Given the description of an element on the screen output the (x, y) to click on. 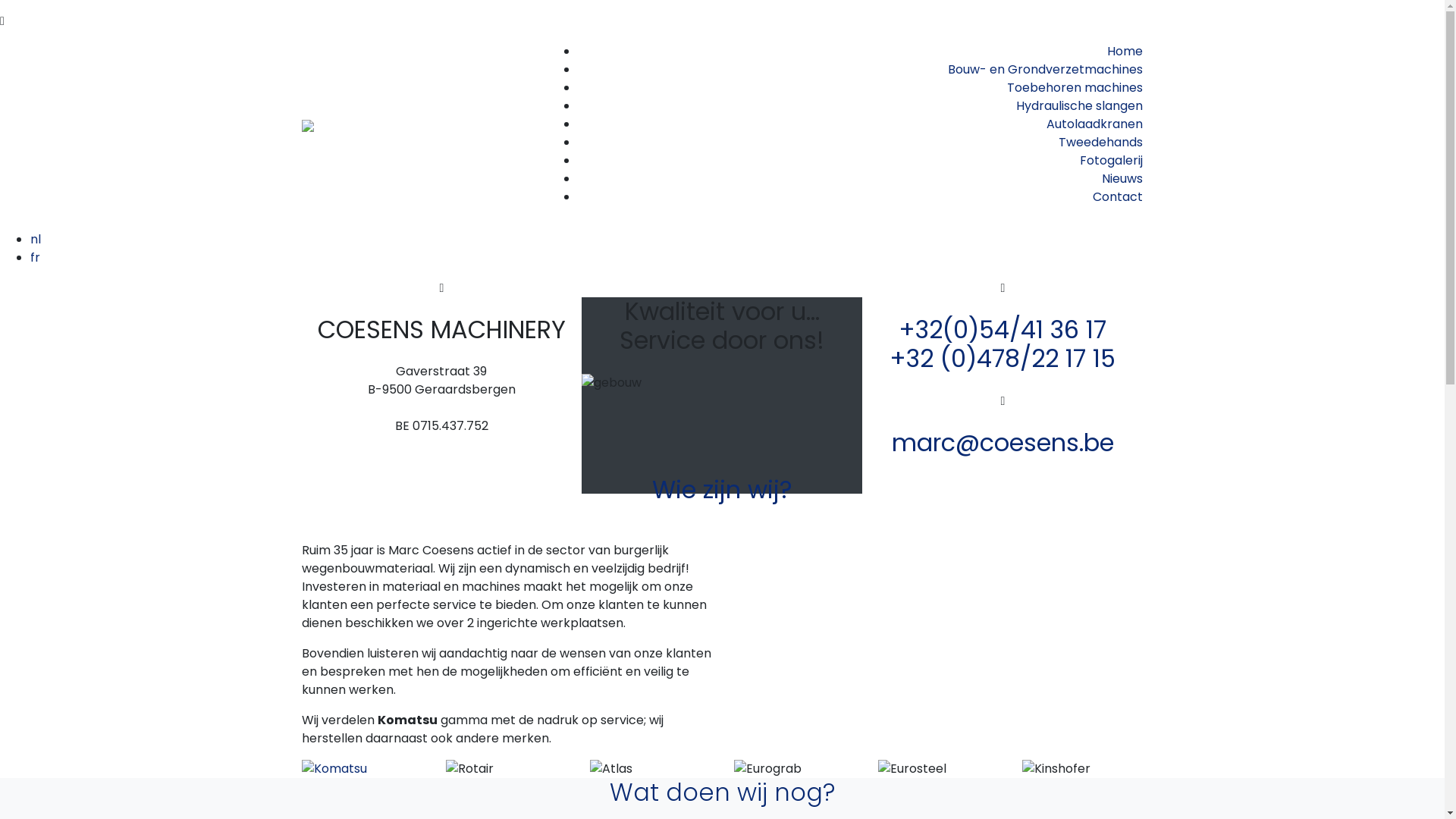
Tweedehands Element type: text (1100, 141)
Hydraulische slangen Element type: text (1079, 105)
Contact Element type: text (1117, 196)
nl Element type: text (35, 238)
Fotogalerij Element type: text (1110, 160)
marc@coesens.be Element type: text (1002, 442)
Nieuws Element type: text (1121, 178)
Bouw- en Grondverzetmachines Element type: text (1044, 69)
+32 (0)478/22 17 15 Element type: text (1002, 358)
Home Element type: text (1124, 50)
Toebehoren machines Element type: text (1074, 87)
Autolaadkranen Element type: text (1094, 123)
+32(0)54/41 36 17 Element type: text (1002, 329)
fr Element type: text (35, 257)
